Given the description of an element on the screen output the (x, y) to click on. 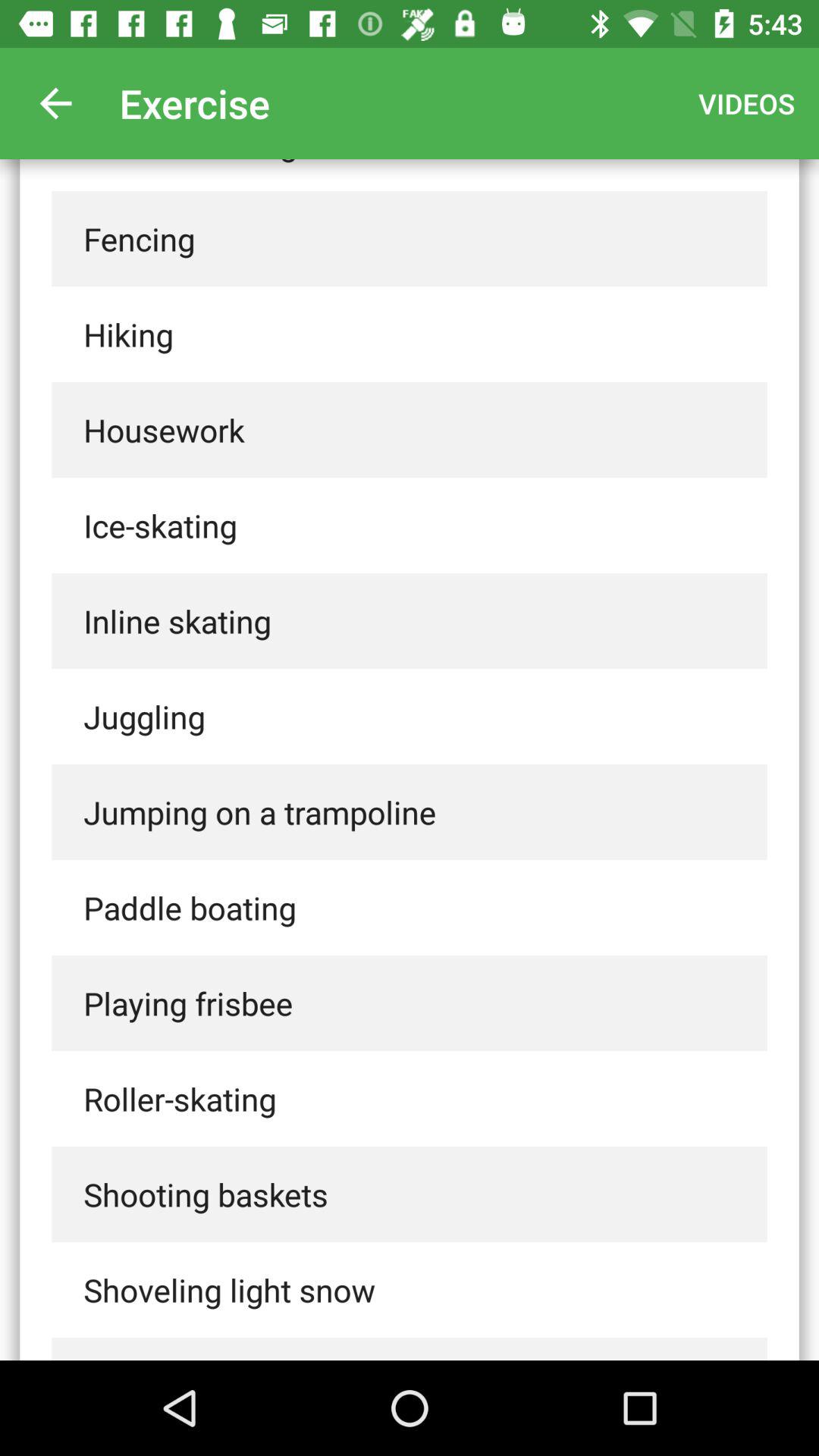
launch item to the right of the exercise item (746, 103)
